Given the description of an element on the screen output the (x, y) to click on. 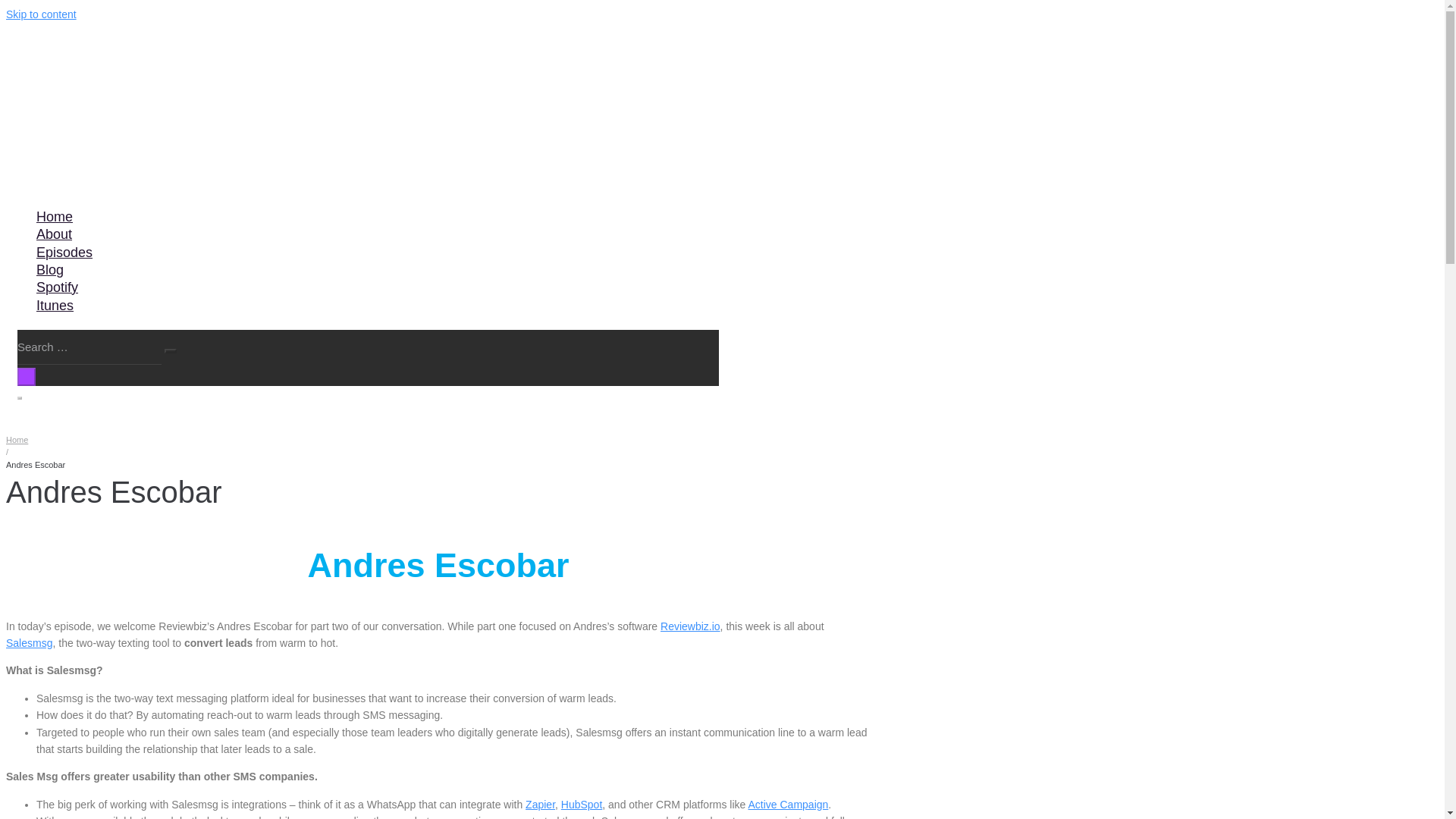
Blog (49, 270)
Episodes (63, 253)
Reviewbiz.io (690, 625)
Active Campaign (788, 804)
Home (16, 439)
Home (16, 439)
Skip to content (41, 14)
Home (53, 217)
Salesmsg (28, 643)
Spotify (56, 287)
Itunes (54, 306)
About (53, 234)
HubSpot (581, 804)
Zapier (539, 804)
